Given the description of an element on the screen output the (x, y) to click on. 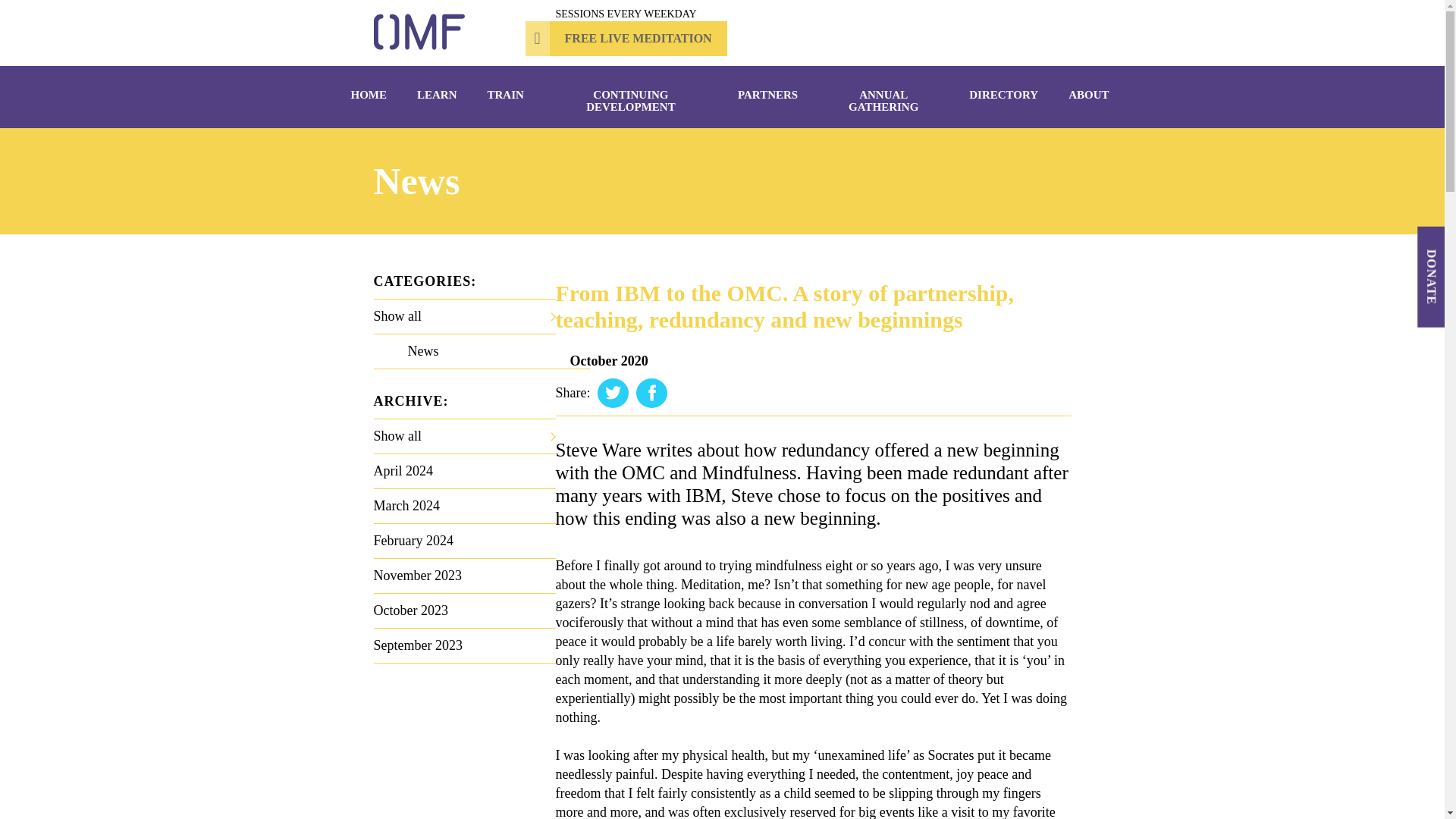
DIRECTORY (1003, 94)
LEARN (436, 94)
ABOUT (1088, 94)
PARTNERS (767, 94)
TRAIN (505, 94)
HOME (368, 94)
CONTINUING DEVELOPMENT (630, 100)
ANNUAL GATHERING (883, 100)
FREE LIVE MEDITATION (625, 38)
